Given the description of an element on the screen output the (x, y) to click on. 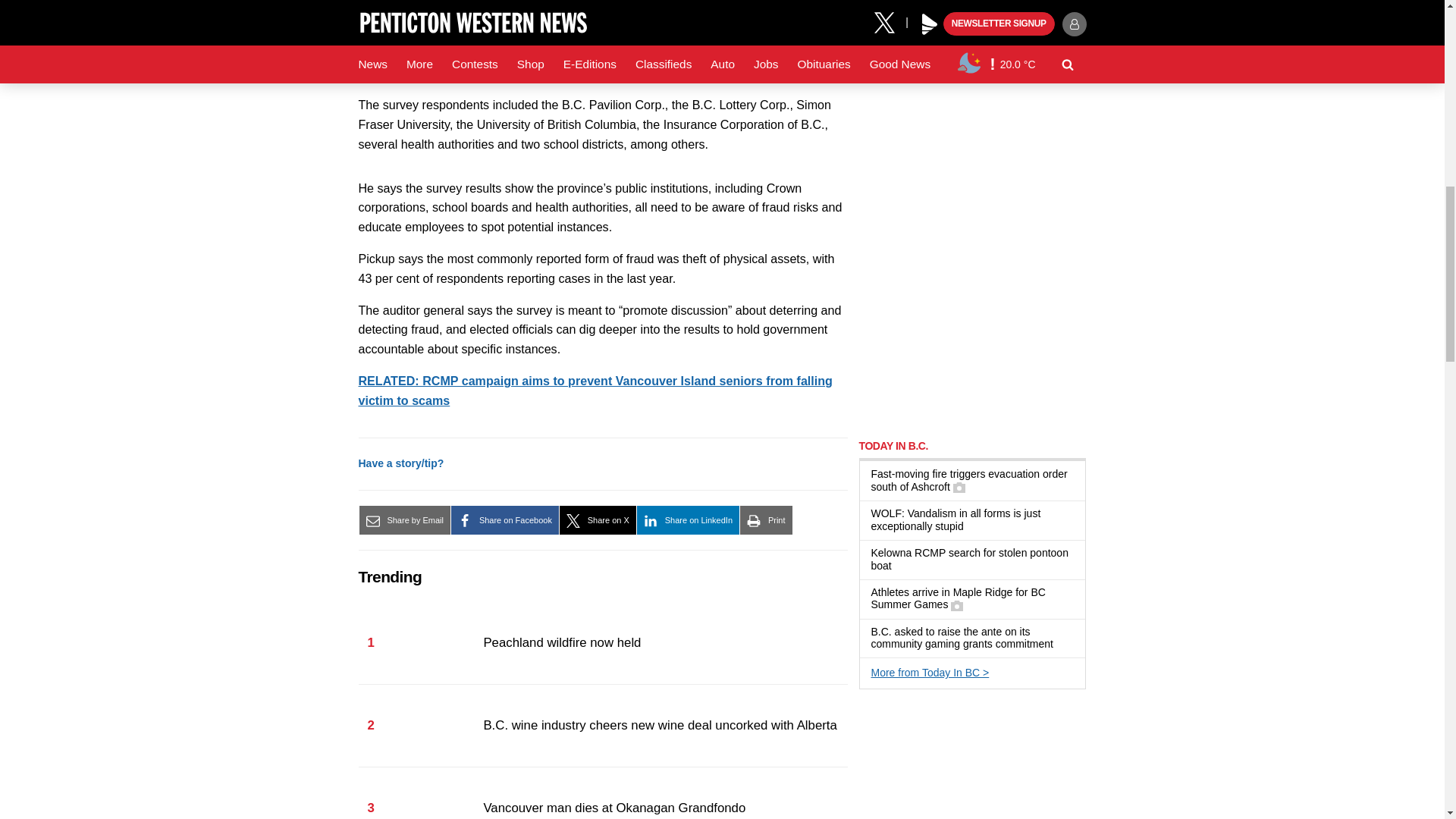
related story (594, 390)
